Given the description of an element on the screen output the (x, y) to click on. 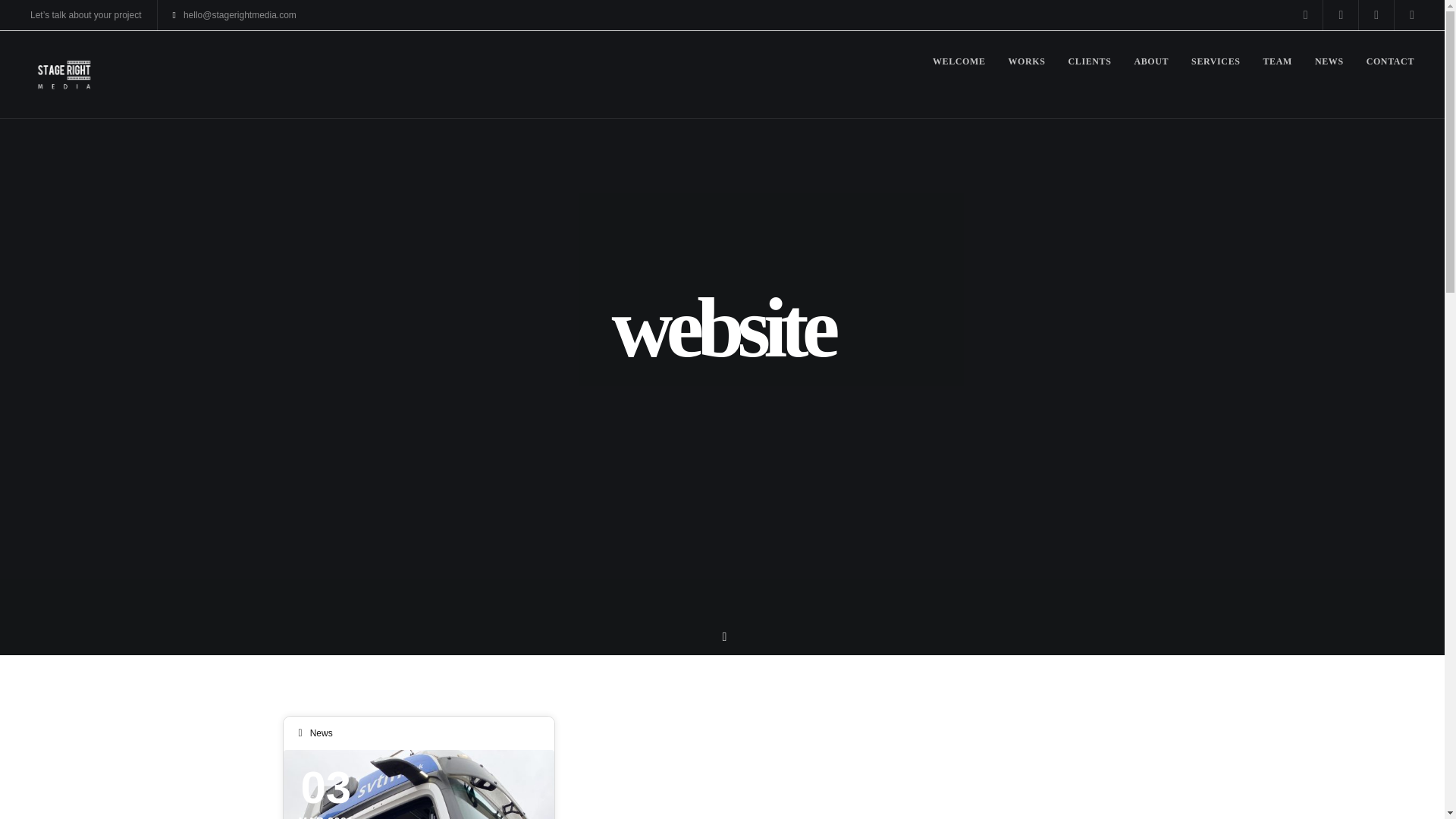
News (321, 733)
